Given the description of an element on the screen output the (x, y) to click on. 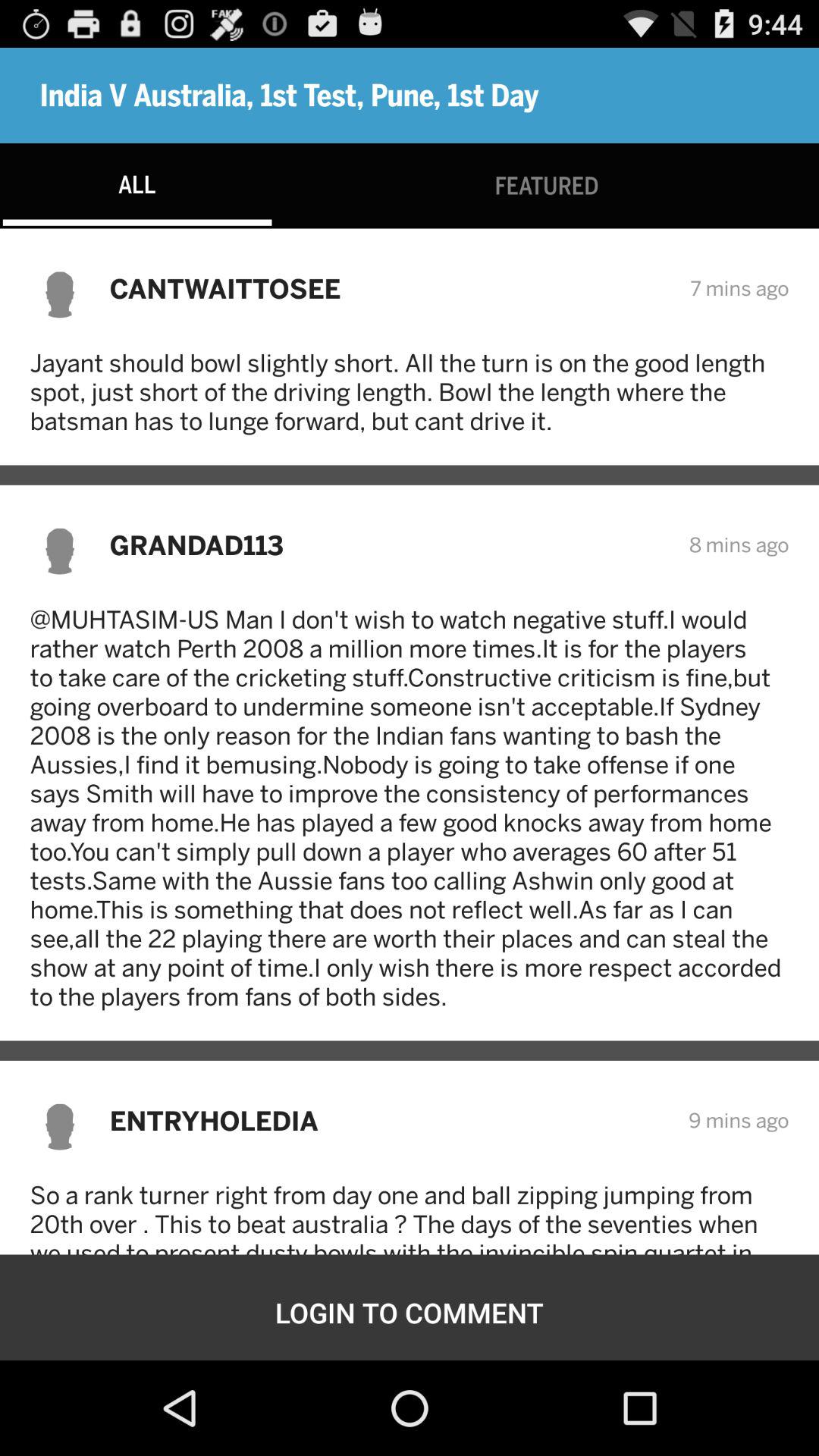
jump to so a rank (409, 1217)
